Given the description of an element on the screen output the (x, y) to click on. 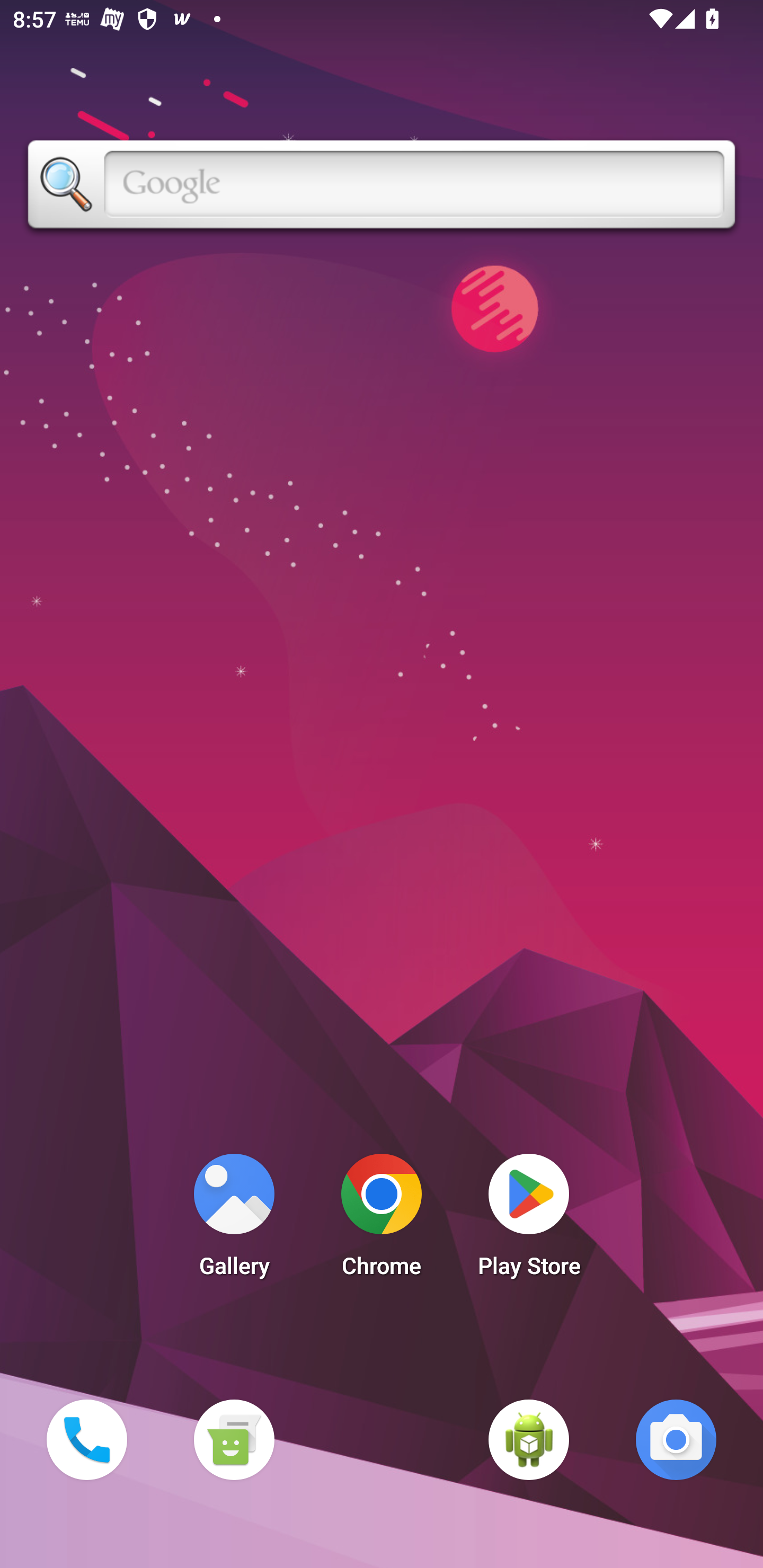
Gallery (233, 1220)
Chrome (381, 1220)
Play Store (528, 1220)
Phone (86, 1439)
Messaging (233, 1439)
WebView Browser Tester (528, 1439)
Camera (676, 1439)
